Given the description of an element on the screen output the (x, y) to click on. 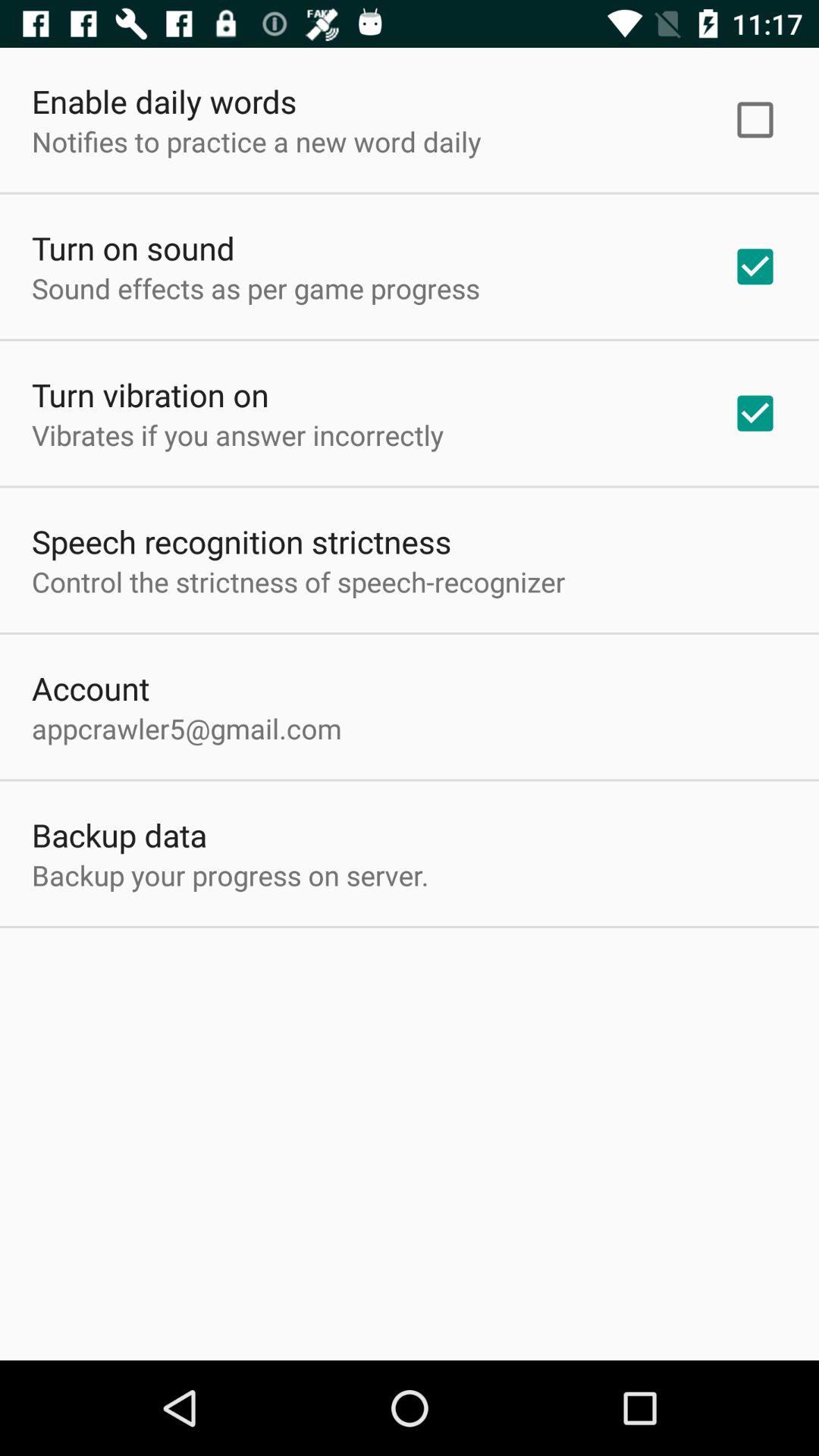
tap the app above the account item (298, 581)
